Given the description of an element on the screen output the (x, y) to click on. 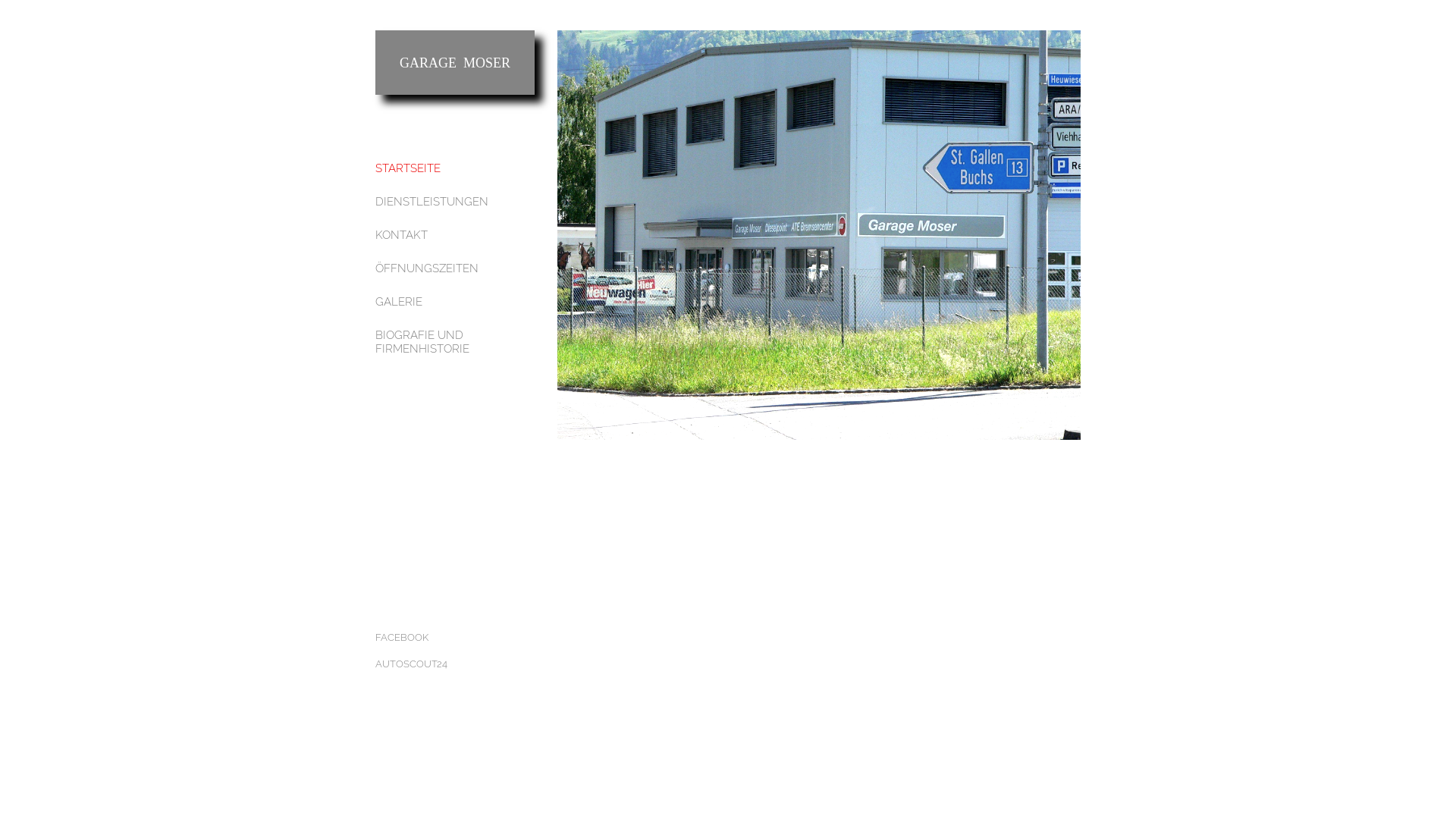
FACEBOOK Element type: text (454, 637)
STARTSEITE Element type: text (454, 168)
GALERIE Element type: text (454, 301)
AUTOSCOUT24 Element type: text (454, 663)
KONTAKT Element type: text (454, 234)
BIOGRAFIE UND FIRMENHISTORIE Element type: text (454, 341)
DIENSTLEISTUNGEN Element type: text (454, 201)
